Given the description of an element on the screen output the (x, y) to click on. 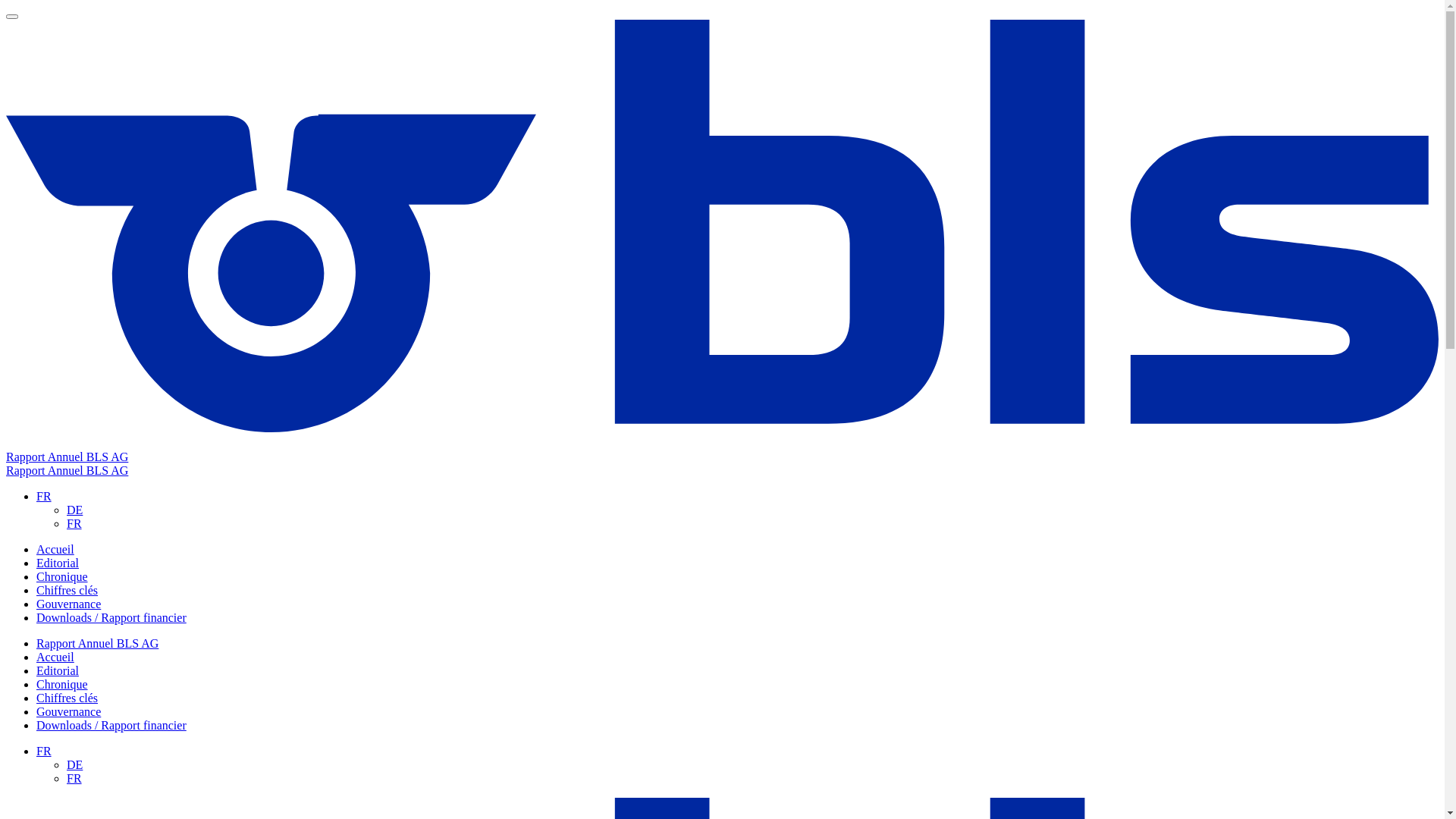
DE Element type: text (74, 764)
Rapport Annuel BLS AG Element type: text (67, 470)
DE Element type: text (74, 509)
Chronique Element type: text (61, 683)
Gouvernance Element type: text (68, 711)
Rapport Annuel BLS AG Element type: text (97, 643)
Accueil Element type: text (55, 548)
Editorial Element type: text (57, 562)
FR Element type: text (43, 750)
FR Element type: text (43, 495)
FR Element type: text (73, 777)
Chronique Element type: text (61, 576)
Downloads / Rapport financier Element type: text (111, 724)
Gouvernance Element type: text (68, 603)
Rapport Annuel BLS AG Element type: text (67, 456)
Downloads / Rapport financier Element type: text (111, 617)
FR Element type: text (73, 523)
Accueil Element type: text (55, 656)
Editorial Element type: text (57, 670)
